Given the description of an element on the screen output the (x, y) to click on. 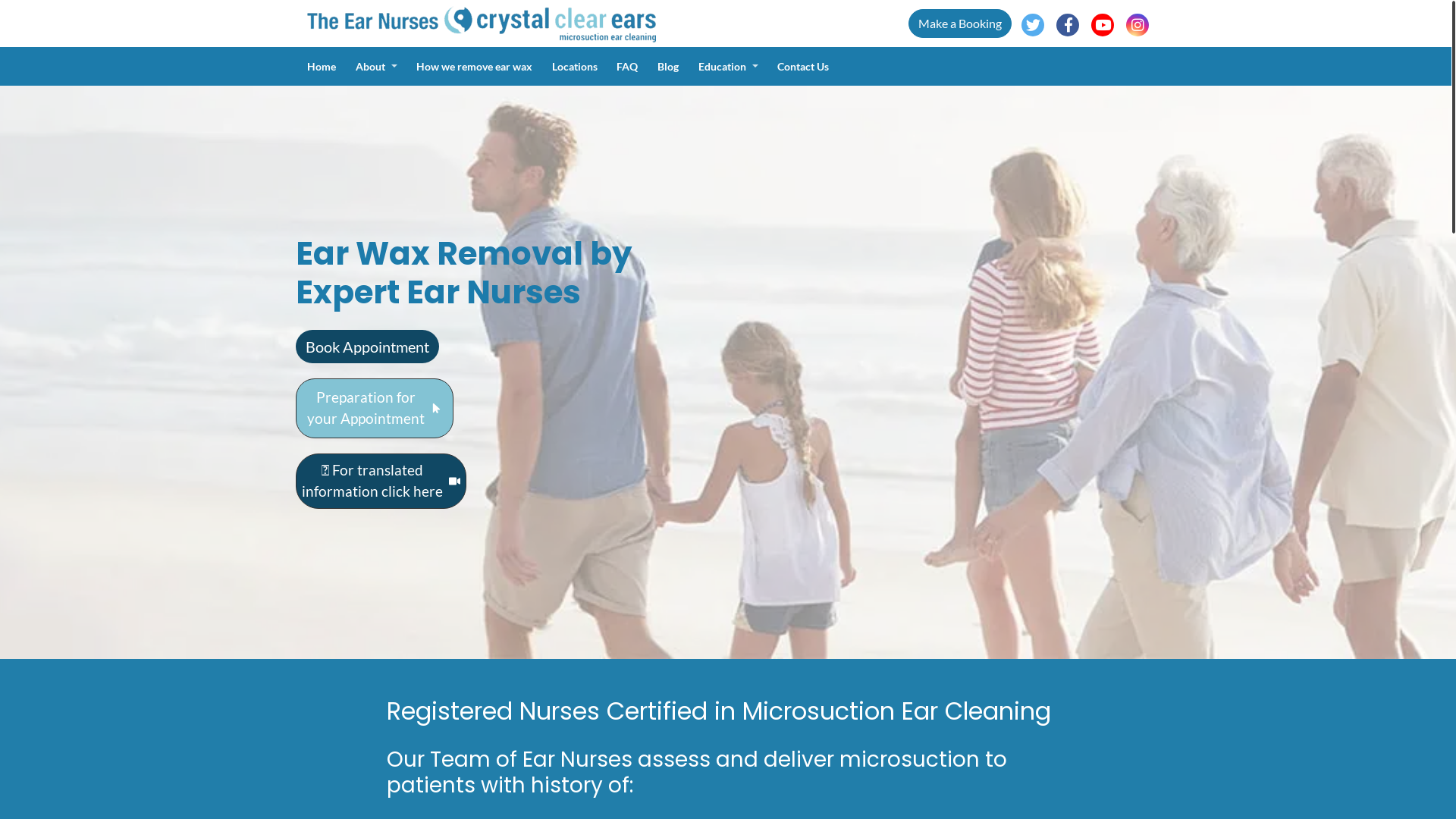
About Element type: text (386, 66)
Make a Booking Element type: text (959, 23)
Preparation for
your Appointment Element type: text (374, 408)
Crystal Clear Clinic Element type: hover (481, 24)
Crystal Clear Clinic - Microsuction ear cleaning Element type: hover (481, 23)
How we remove ear wax Element type: text (484, 66)
Education Element type: text (738, 66)
FAQ Element type: text (636, 66)
Blog Element type: text (677, 66)
Home Element type: text (331, 66)
Contact Us Element type: text (812, 66)
Book Appointment Element type: text (367, 346)
Locations Element type: text (584, 66)
